Given the description of an element on the screen output the (x, y) to click on. 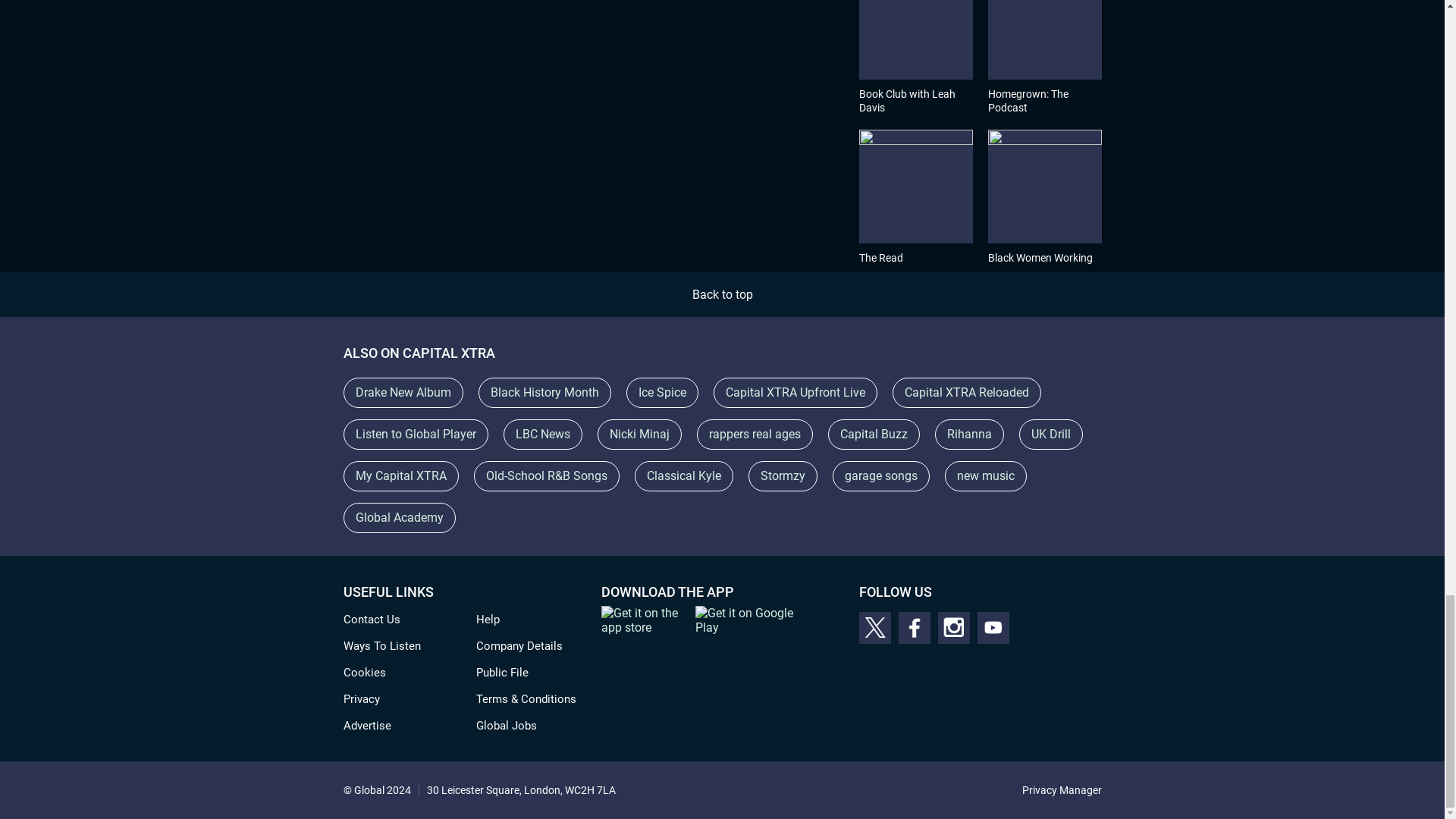
Follow CapitalXtra on X (874, 627)
Back to top (721, 294)
Follow CapitalXtra on Facebook (914, 627)
Follow CapitalXtra on Instagram (953, 627)
Follow CapitalXtra on Youtube (992, 627)
